Given the description of an element on the screen output the (x, y) to click on. 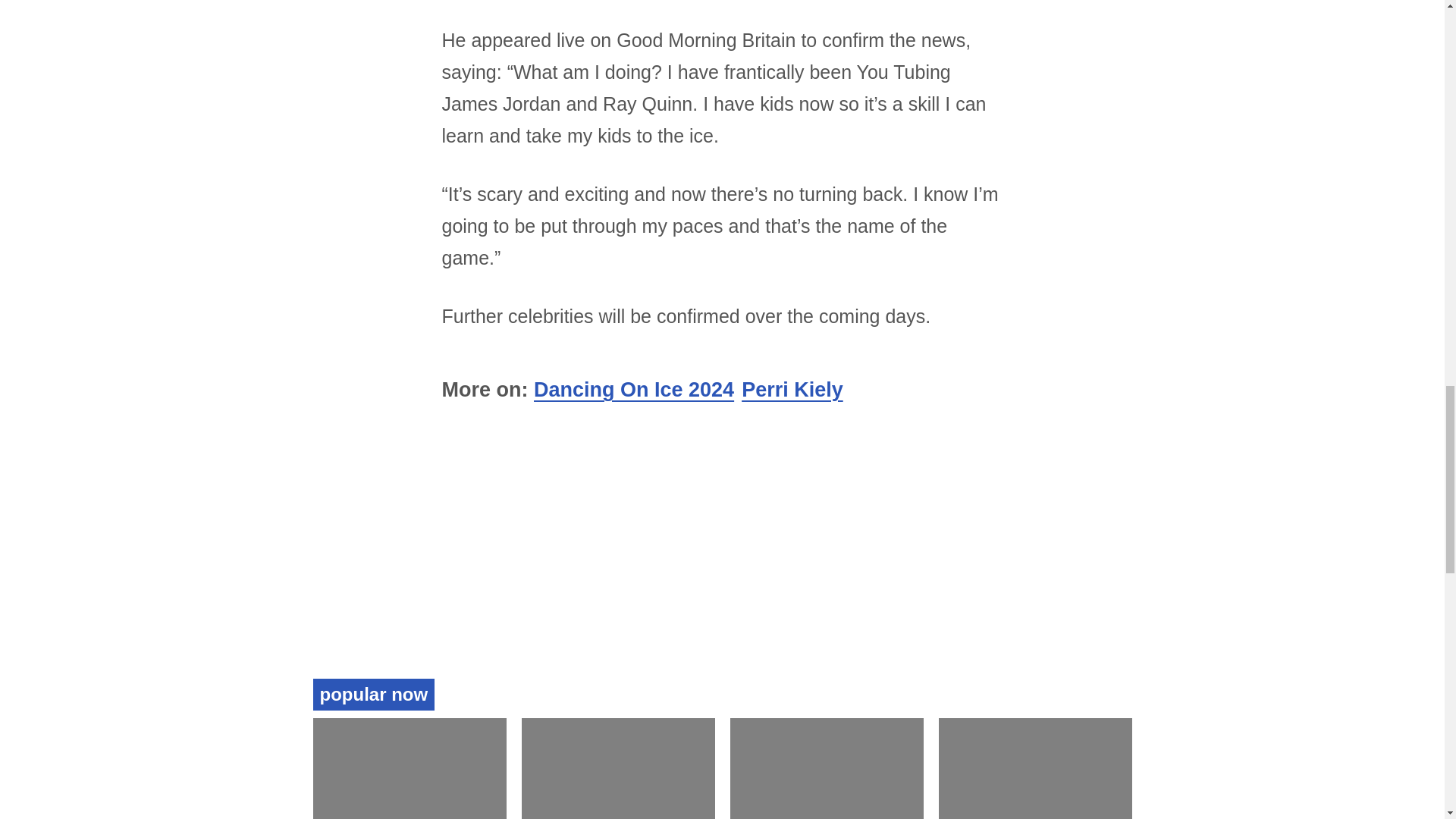
Perri Kiely (792, 177)
Squid Game season 2 release date and trailer revealed (390, 433)
Dancing On Ice 2024 (633, 177)
Full List of BBC's Top Earners Revealed (1013, 424)
